Given the description of an element on the screen output the (x, y) to click on. 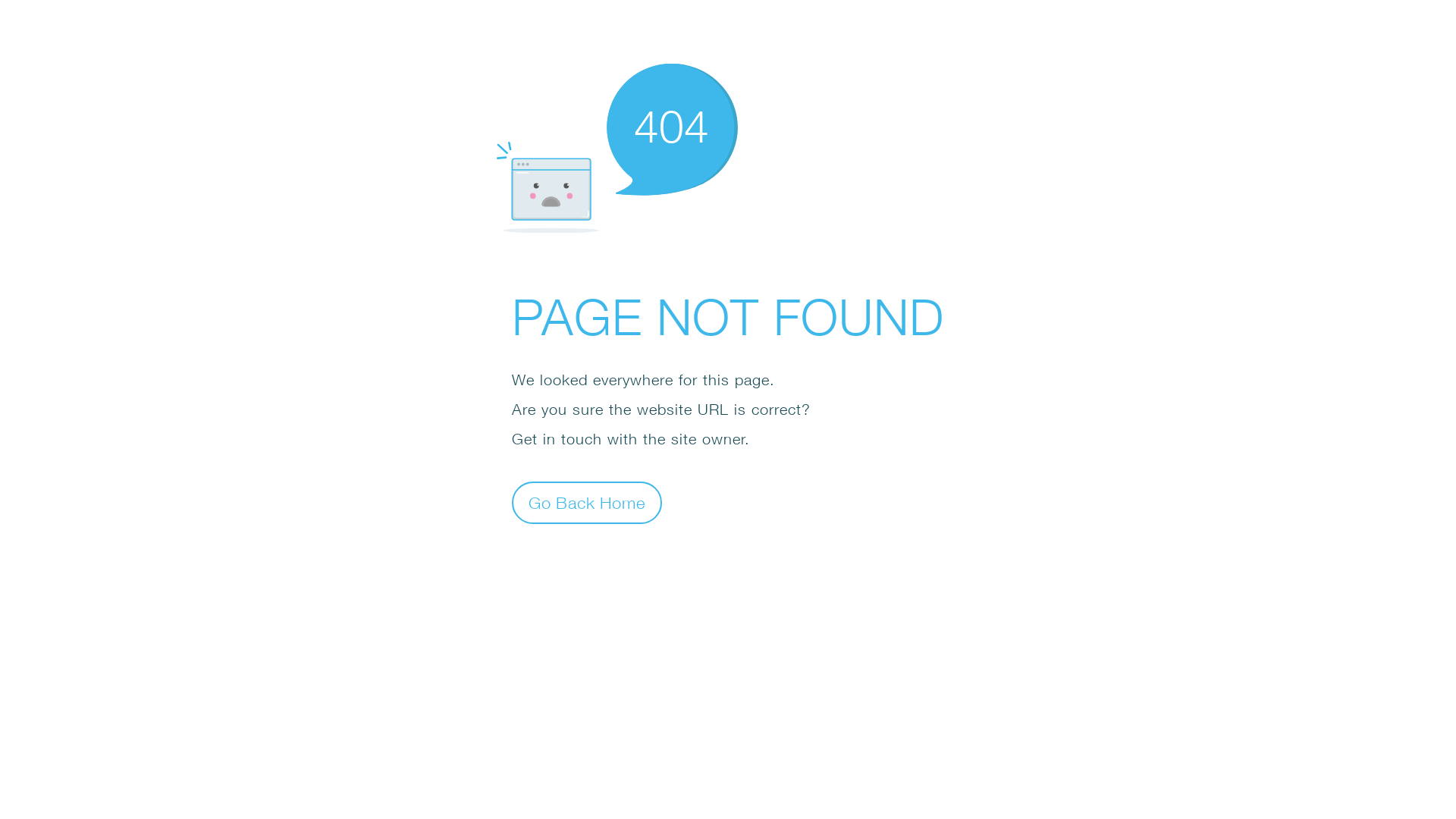
Go Back Home Element type: text (586, 502)
